Given the description of an element on the screen output the (x, y) to click on. 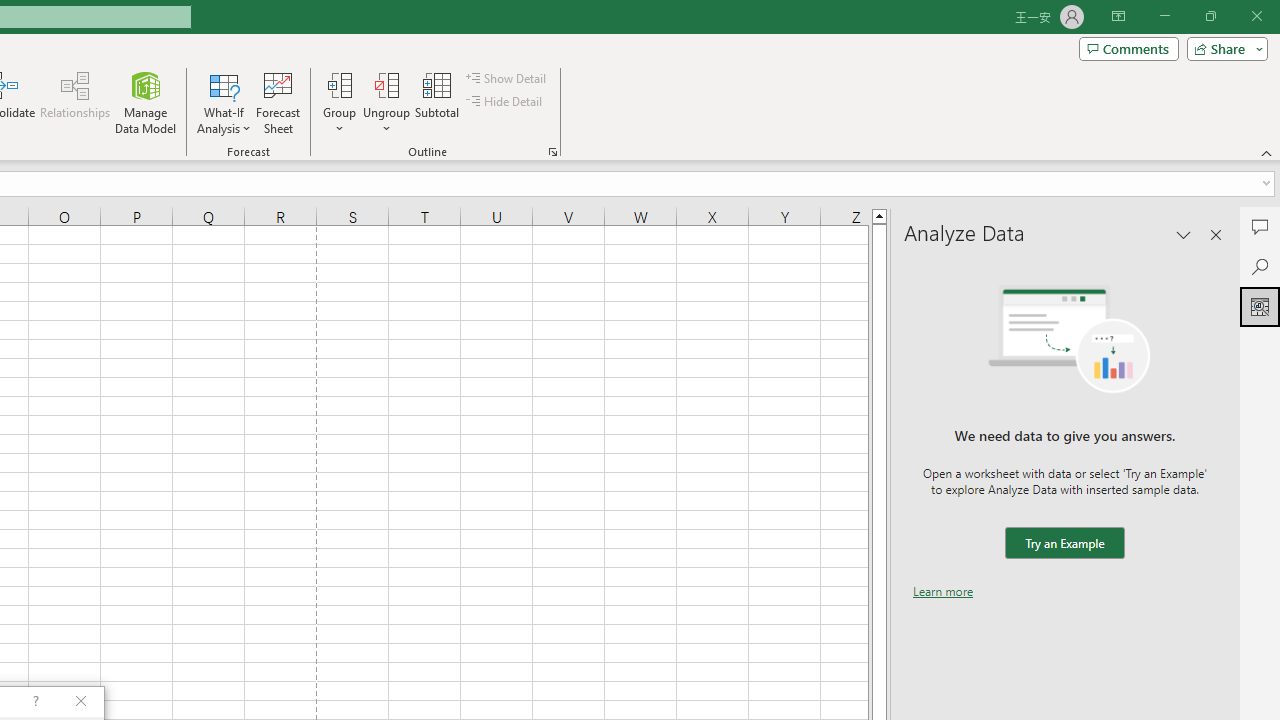
Learn more (943, 591)
We need data to give you answers. Try an Example (1064, 543)
